Given the description of an element on the screen output the (x, y) to click on. 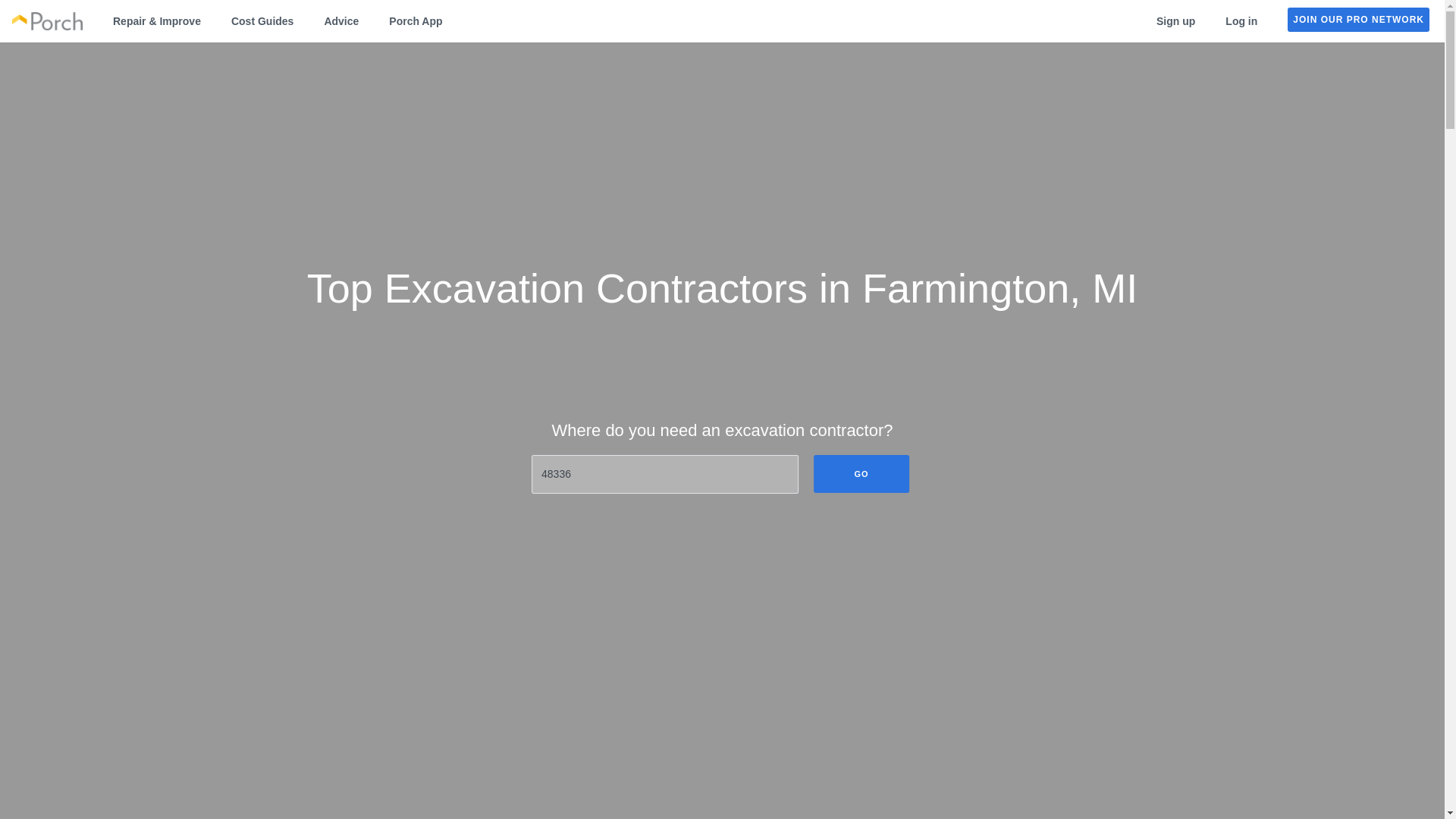
48336 (664, 474)
